Given the description of an element on the screen output the (x, y) to click on. 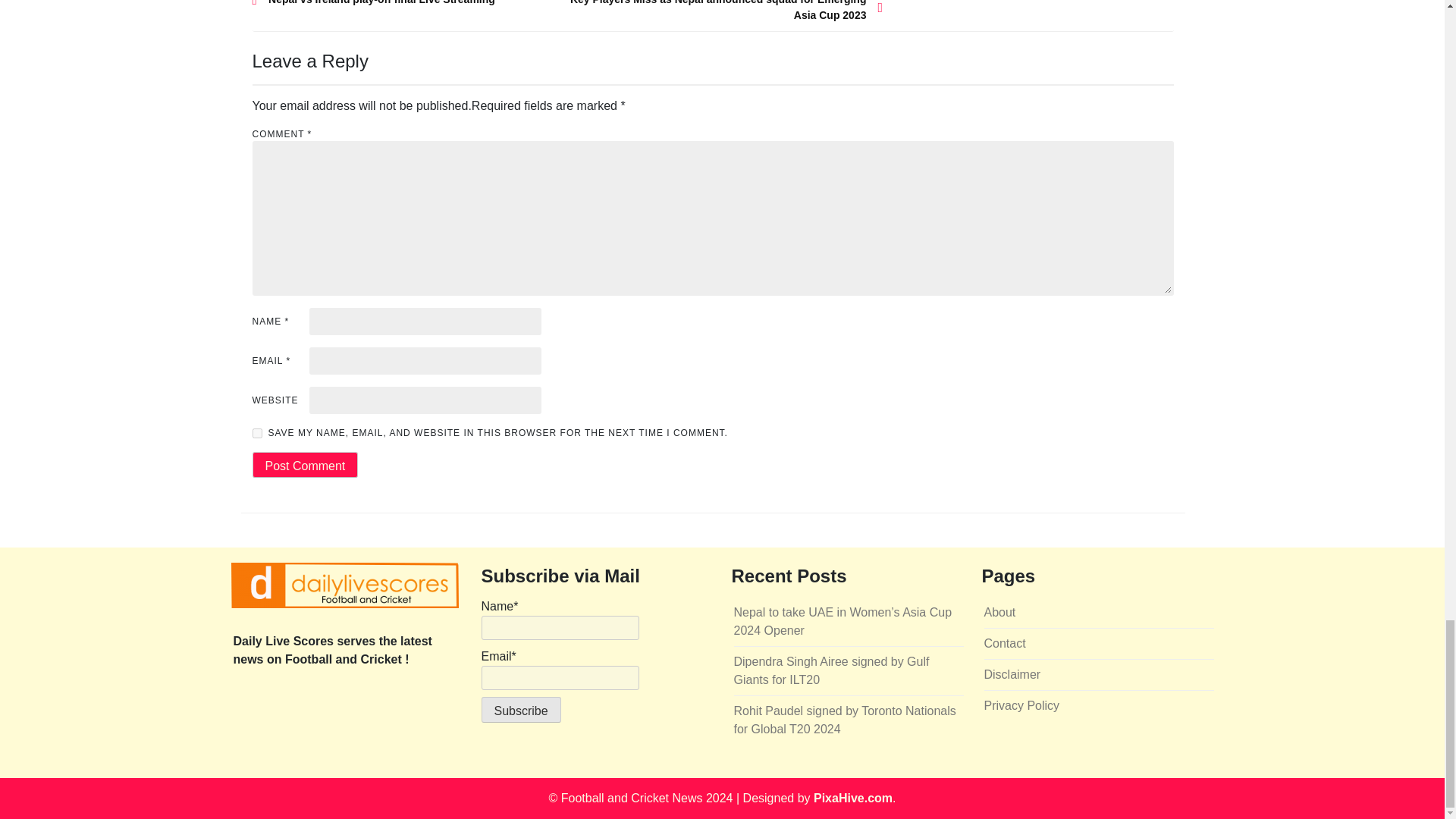
Nepal vs Ireland play-off final Live Streaming (409, 3)
Post Comment (304, 464)
Post Comment (304, 464)
Dipendra Singh Airee signed by Gulf Giants for ILT20 (831, 670)
Rohit Paudel signed by Toronto Nationals for Global T20 2024 (844, 719)
yes (256, 433)
Subscribe (520, 709)
Subscribe (520, 709)
